Given the description of an element on the screen output the (x, y) to click on. 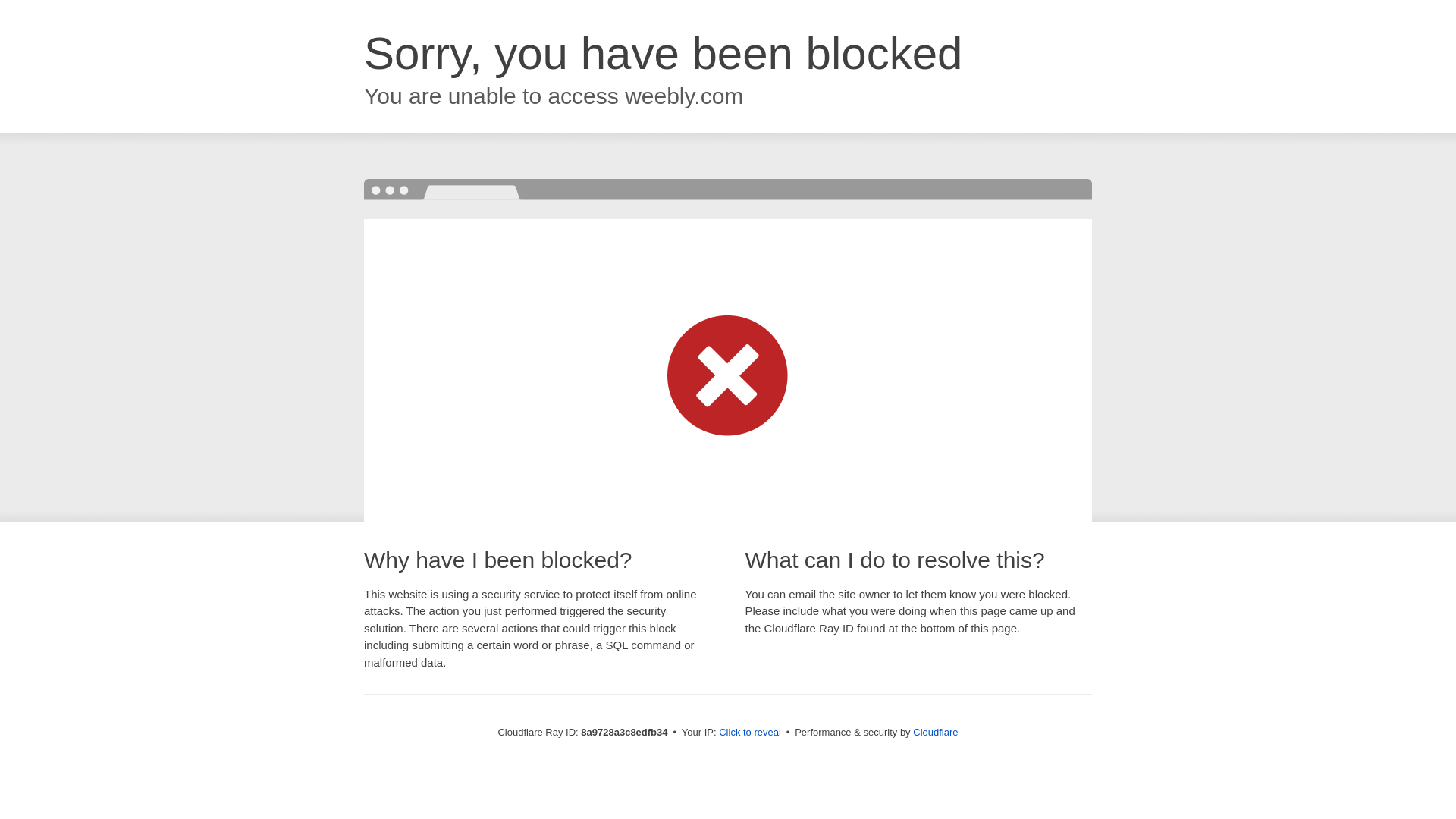
Cloudflare (935, 731)
Click to reveal (749, 732)
